Given the description of an element on the screen output the (x, y) to click on. 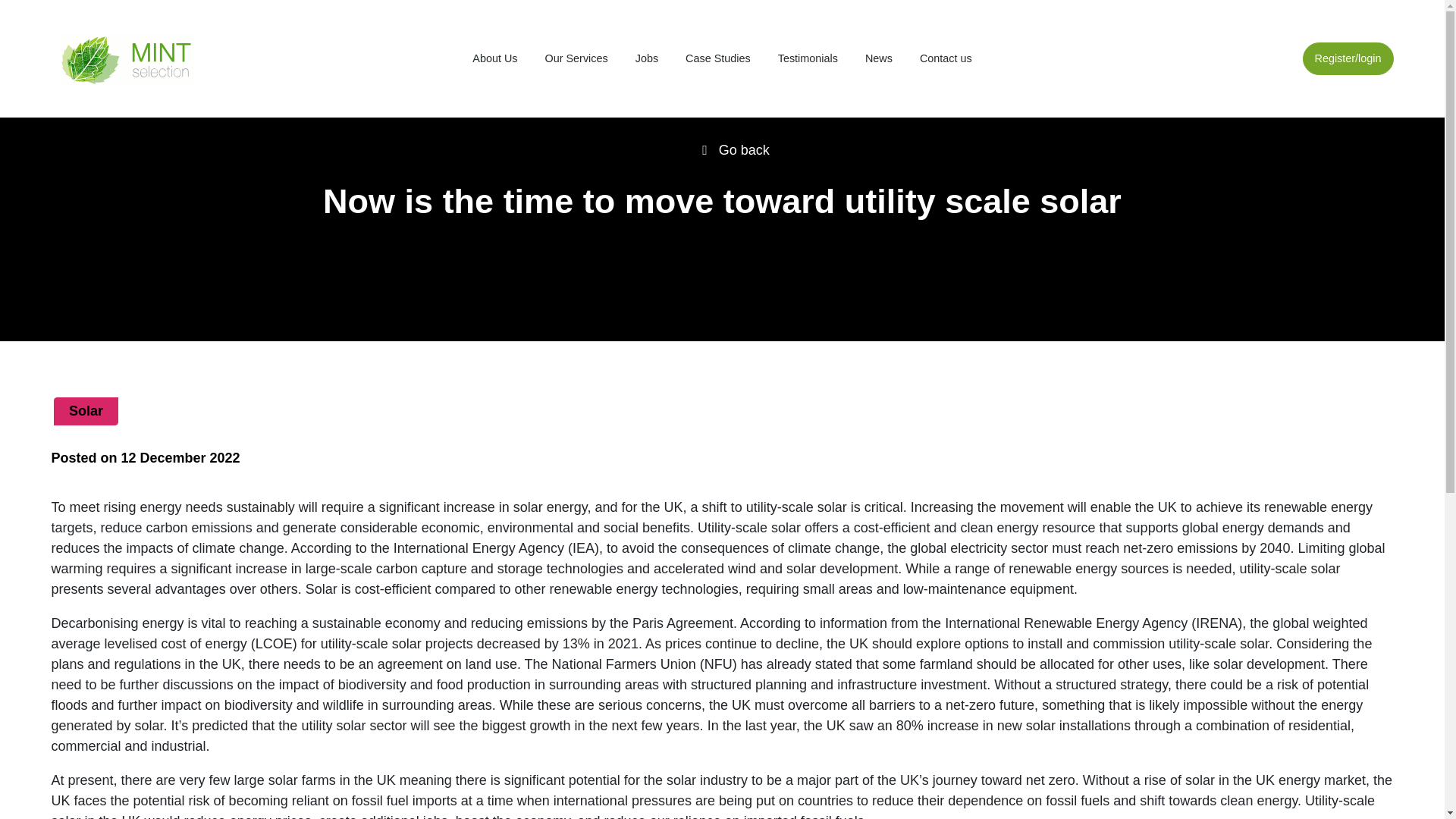
Contact us (945, 59)
Our Services (576, 59)
Jobs (646, 59)
About Us (494, 59)
Testimonials (807, 59)
Case Studies (717, 59)
News (879, 59)
